Given the description of an element on the screen output the (x, y) to click on. 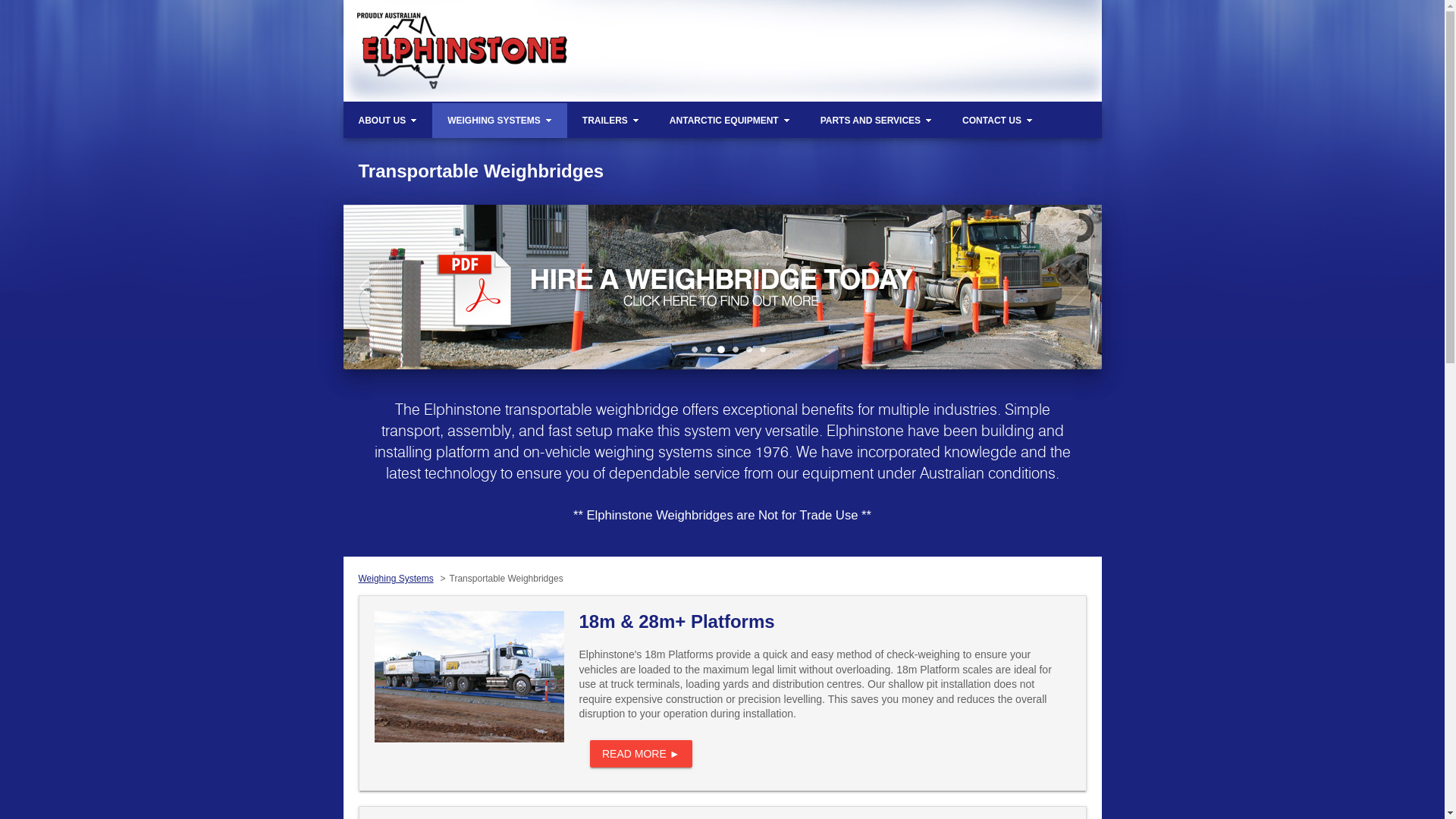
ABOUT US Element type: text (387, 17)
TRAILERS Element type: text (610, 120)
CONTACT US Element type: text (997, 17)
ABOUT US Element type: text (387, 120)
PARTS AND SERVICES Element type: text (876, 17)
TRAILERS Element type: text (610, 17)
WEIGHING SYSTEMS Element type: text (499, 120)
ANTARCTIC EQUIPMENT Element type: text (729, 17)
Go to Elphinstone Australia Home Element type: hover (484, 48)
WEIGHING SYSTEMS Element type: text (499, 17)
Weighing Systems Element type: text (395, 578)
PARTS AND SERVICES Element type: text (876, 120)
ANTARCTIC EQUIPMENT Element type: text (729, 120)
CONTACT US Element type: text (997, 120)
